Given the description of an element on the screen output the (x, y) to click on. 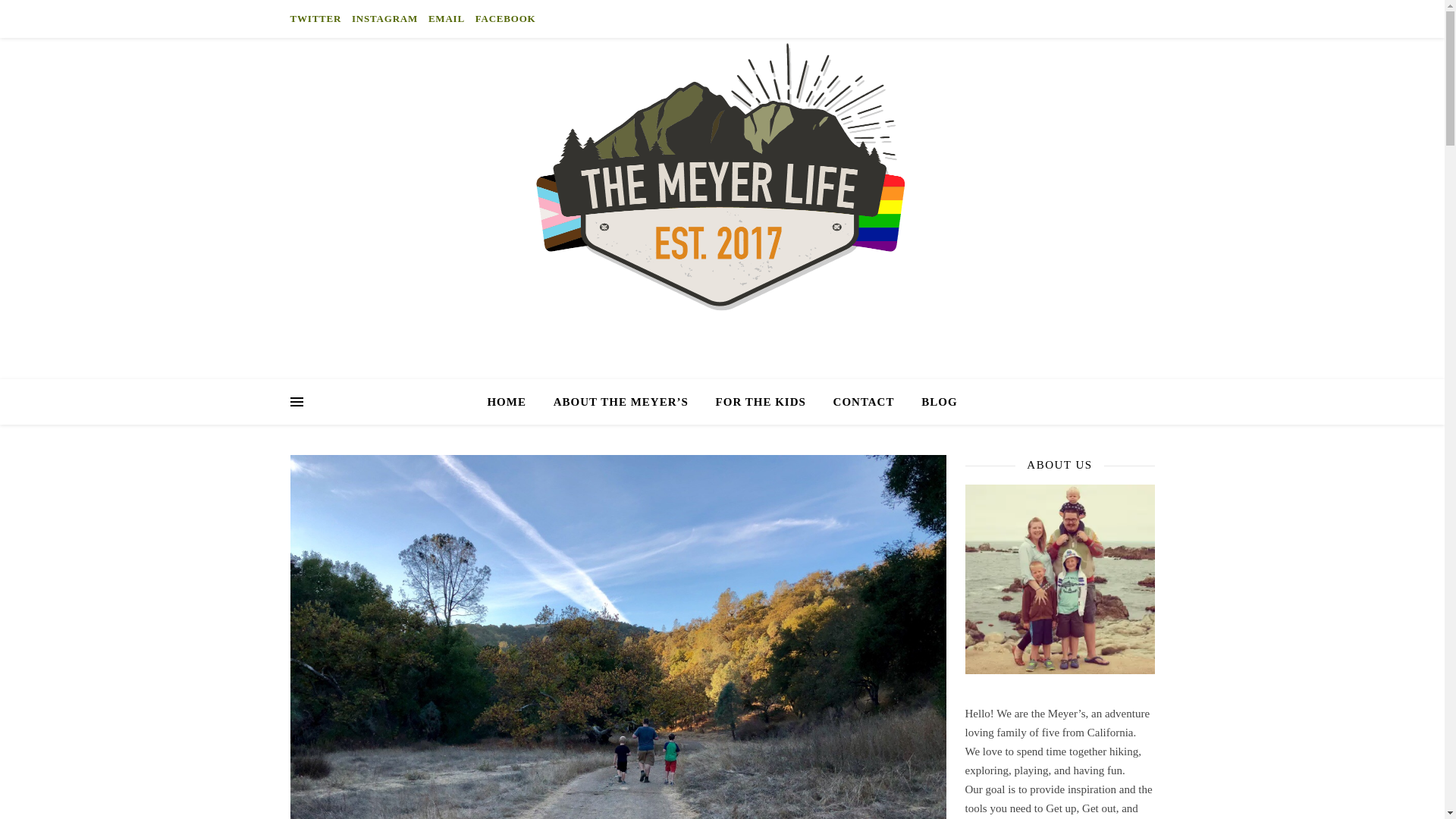
FOR THE KIDS (760, 402)
HOME (512, 402)
EMAIL (446, 18)
INSTAGRAM (384, 18)
BLOG (932, 402)
TWITTER (317, 18)
FACEBOOK (503, 18)
CONTACT (864, 402)
